Given the description of an element on the screen output the (x, y) to click on. 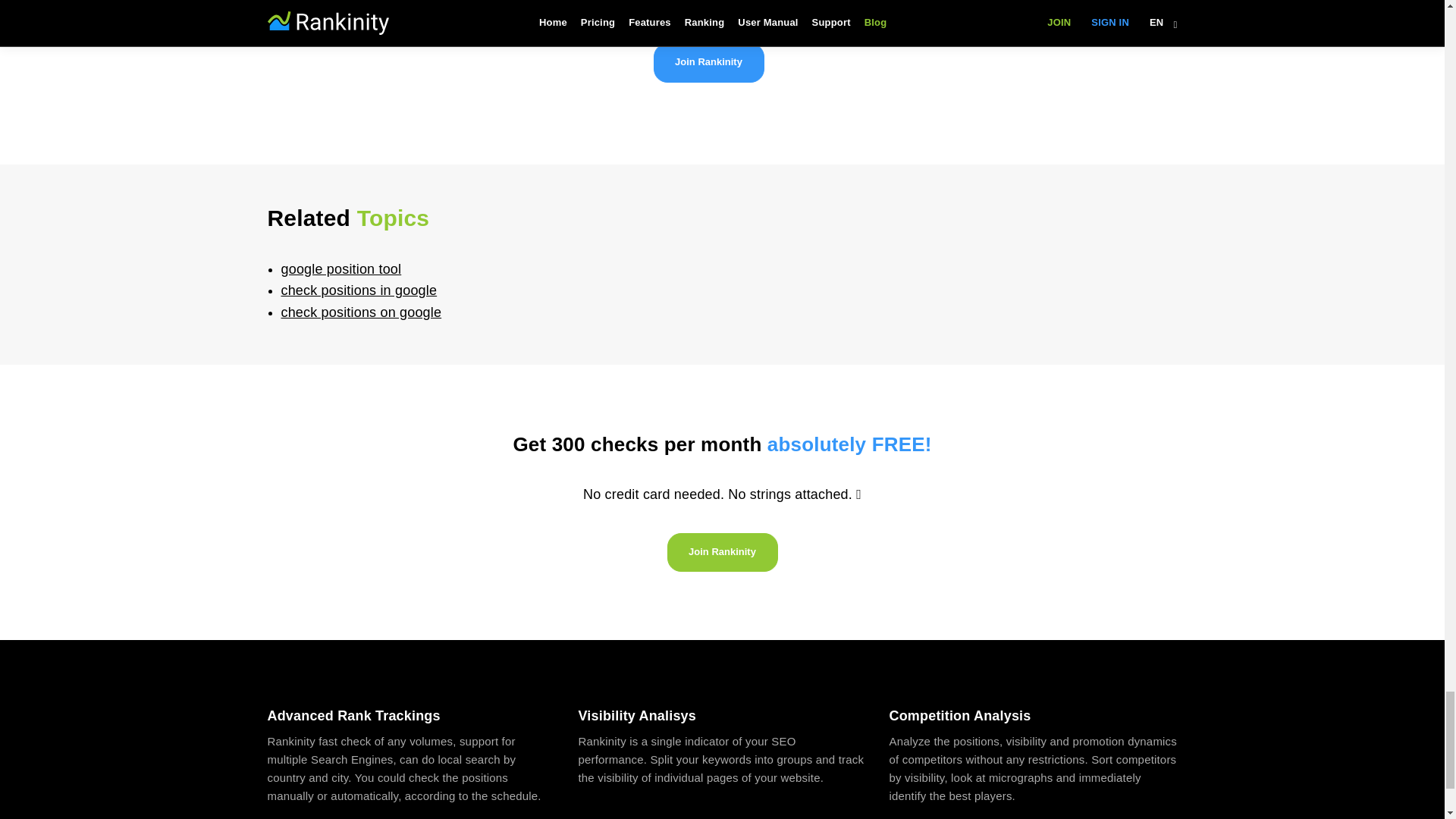
Join Rankinity (721, 552)
Join Rankinity (708, 62)
google position tool (341, 268)
check positions on google (361, 312)
check positions in google (358, 290)
